Given the description of an element on the screen output the (x, y) to click on. 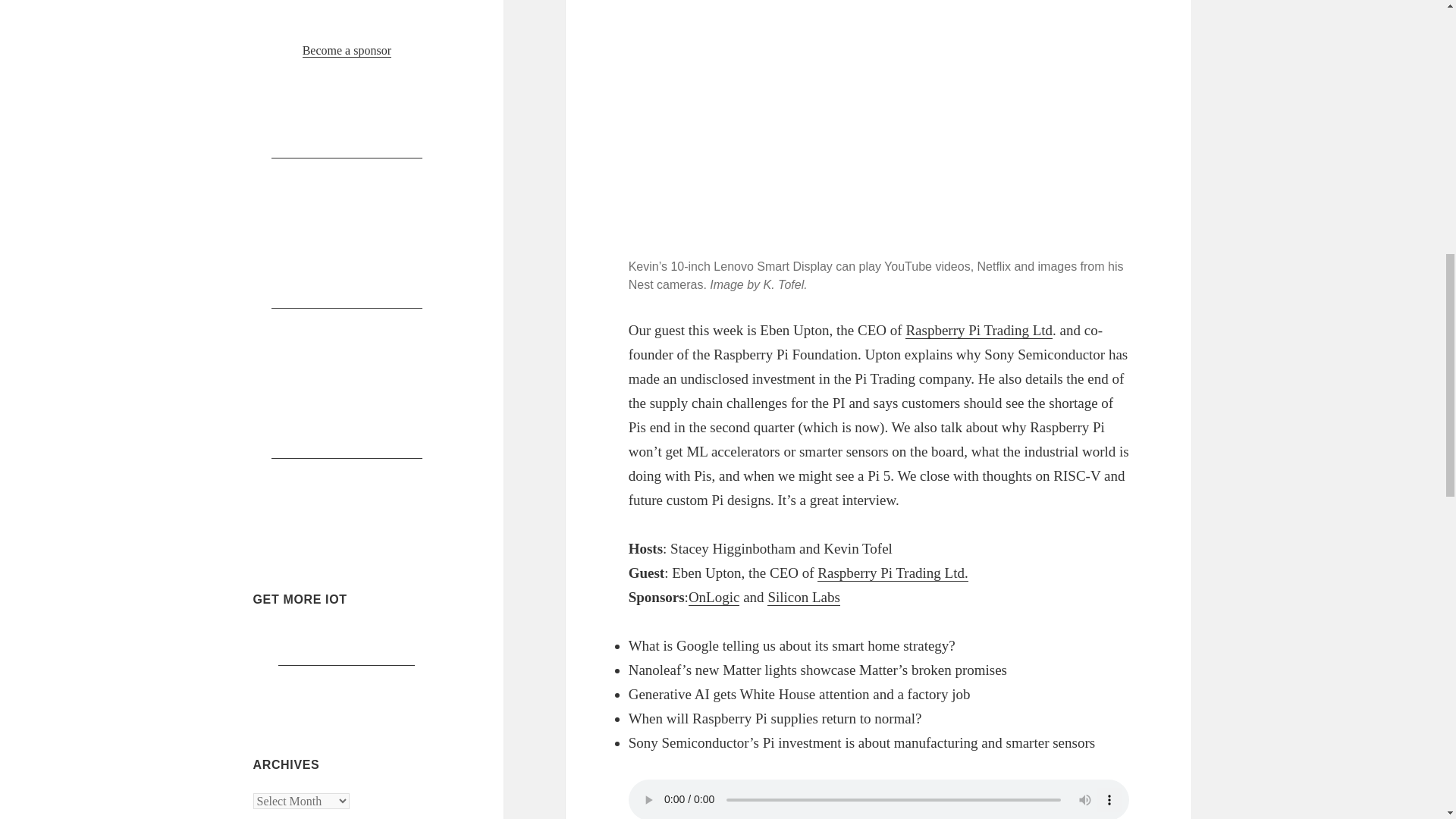
OnLogic (713, 597)
Become a sponsor (346, 50)
Raspberry Pi Trading Ltd (978, 330)
Silicon Labs (803, 597)
Raspberry Pi Trading Ltd. (892, 573)
